Given the description of an element on the screen output the (x, y) to click on. 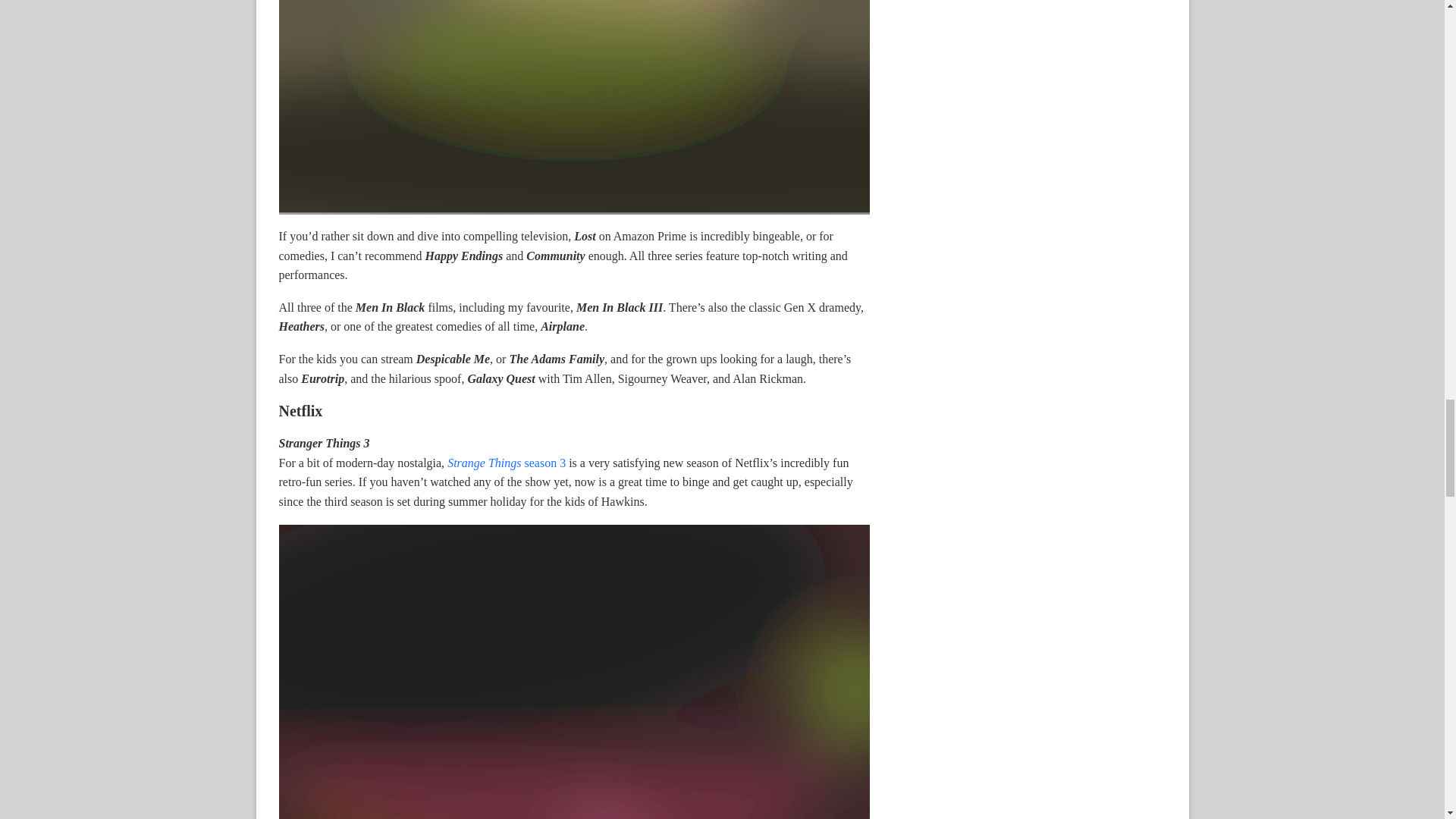
Strange Things season 3 (506, 462)
